Given the description of an element on the screen output the (x, y) to click on. 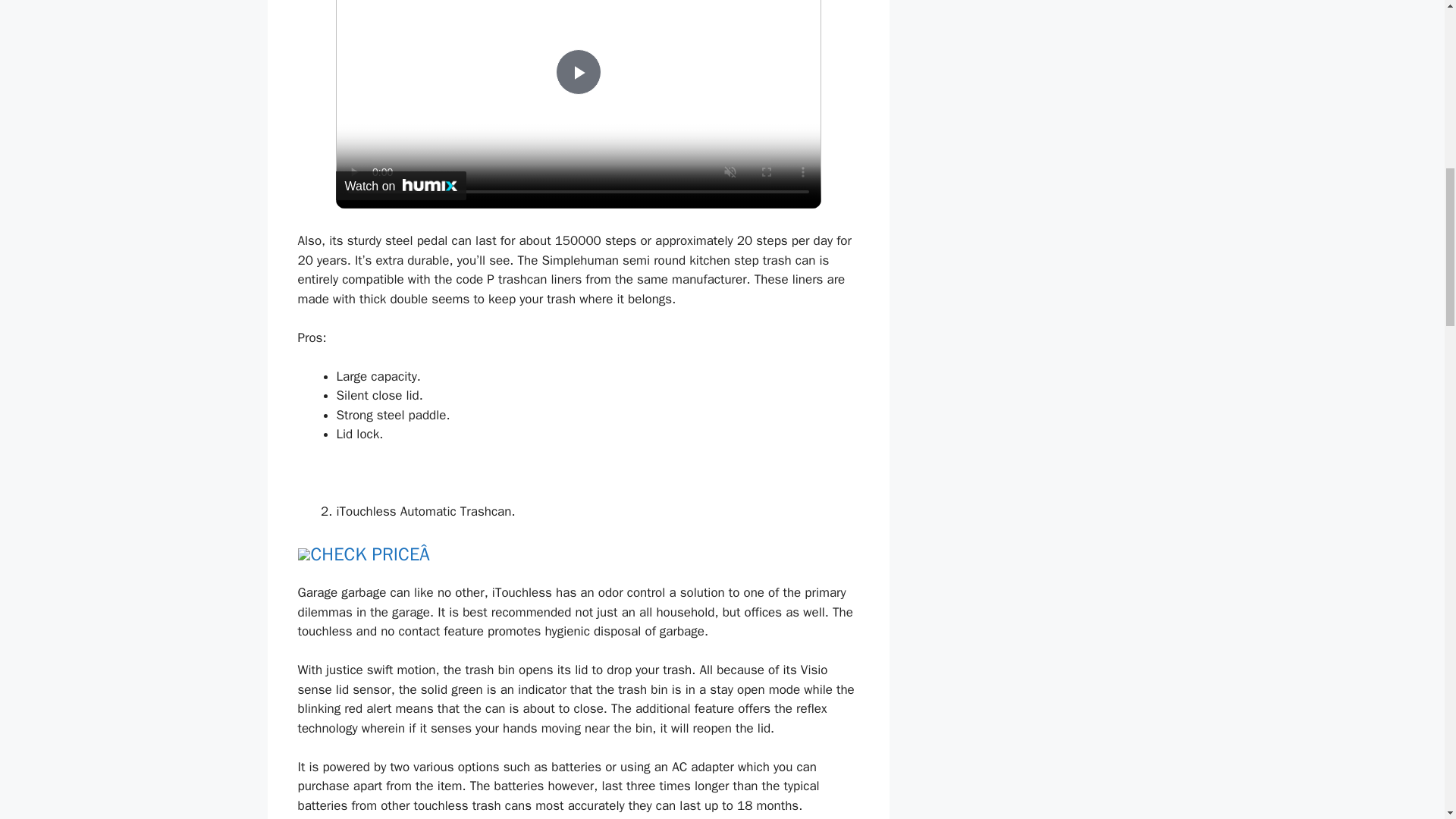
Play Video (576, 72)
Watch on (399, 185)
Play Video (576, 72)
